Given the description of an element on the screen output the (x, y) to click on. 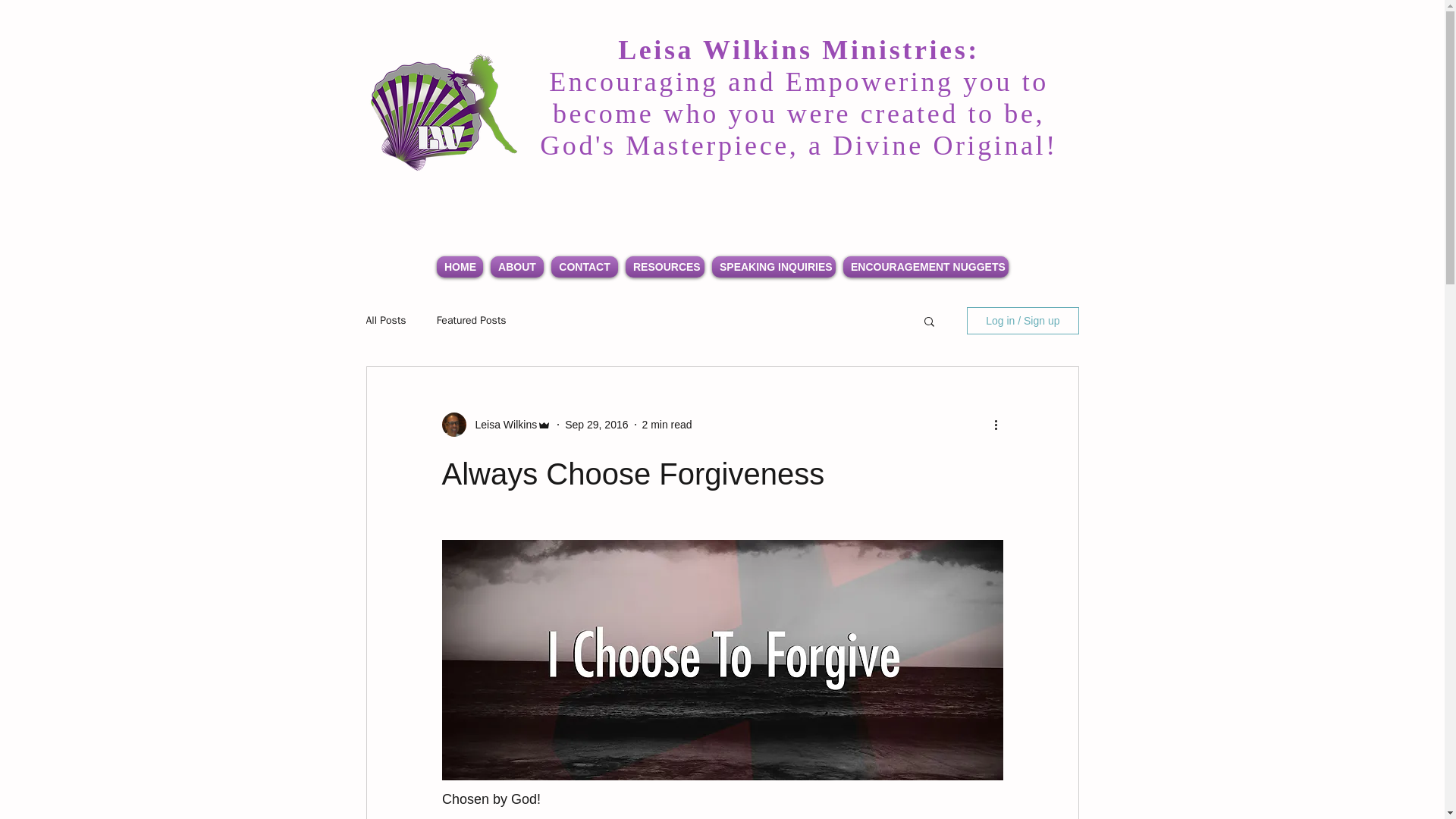
All Posts (385, 320)
SPEAKING INQUIRIES (773, 266)
HOME (459, 266)
Leisa Wilkins (501, 424)
CONTACT (584, 266)
ENCOURAGEMENT NUGGETS (925, 266)
Featured Posts (471, 320)
ABOUT (516, 266)
RESOURCES (664, 266)
2 min read (666, 424)
Sep 29, 2016 (595, 424)
Leisa Wilkins Ministries (444, 115)
